Given the description of an element on the screen output the (x, y) to click on. 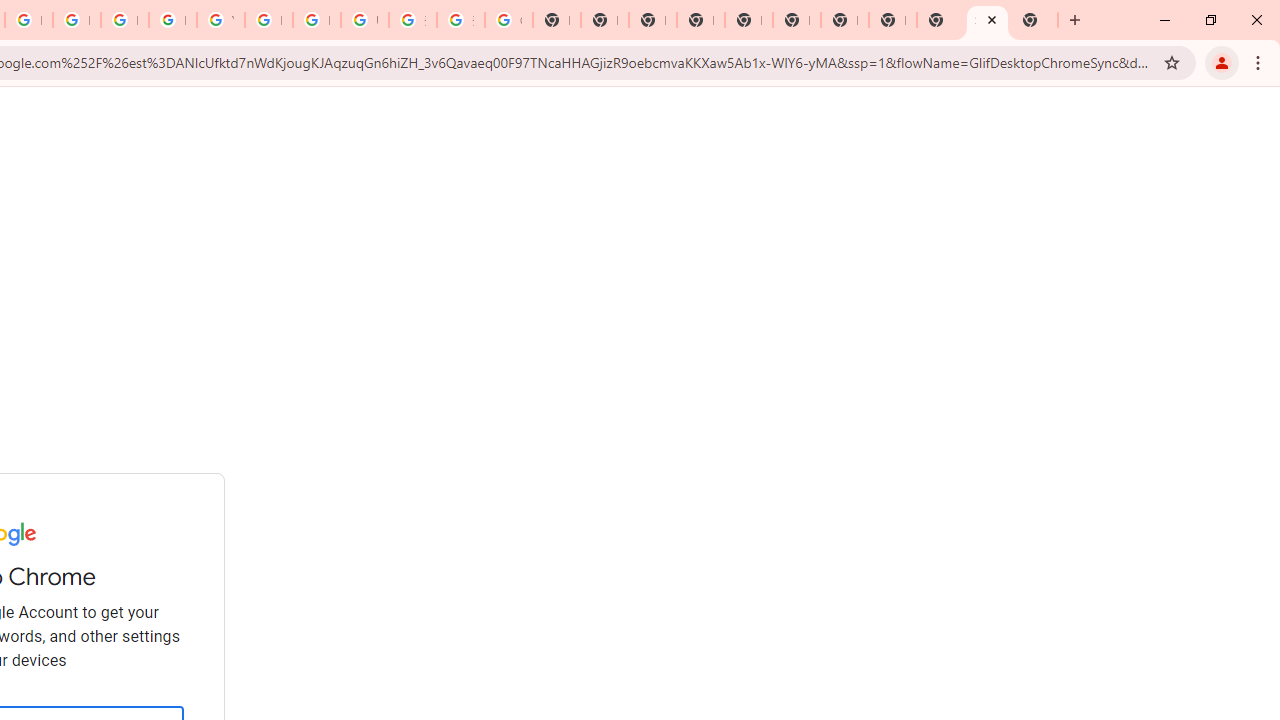
Google Images (508, 20)
Sign in - Google Accounts (987, 20)
YouTube (220, 20)
New Tab (1034, 20)
New Tab (700, 20)
